Given the description of an element on the screen output the (x, y) to click on. 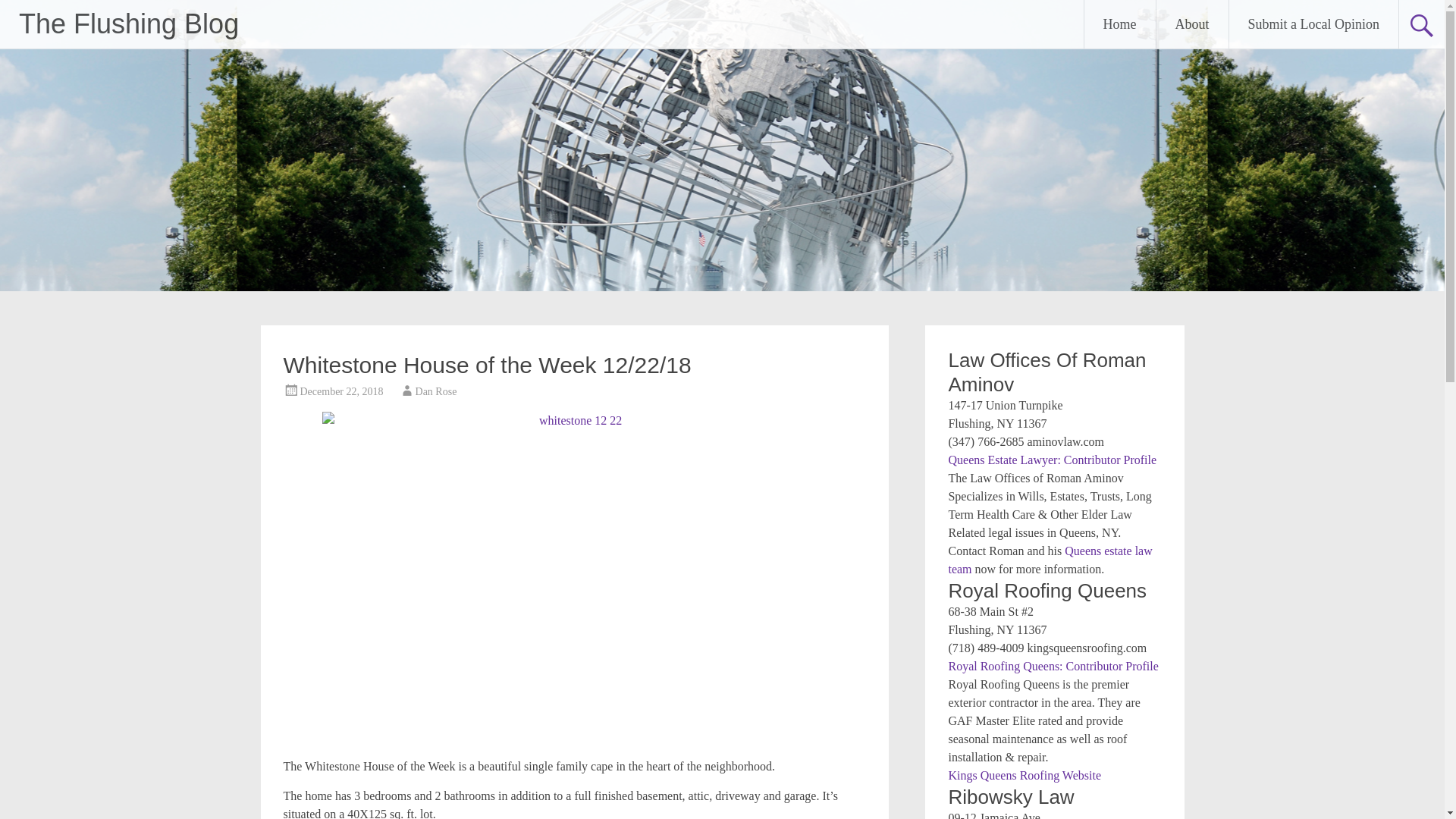
Queens estate law team (1049, 559)
Royal Roofing Queens: Contributor Profile (1052, 666)
Home (1120, 24)
The Flushing Blog (128, 23)
Dan Rose (435, 391)
Queens Estate Lawyer: Contributor Profile (1051, 459)
About (1192, 24)
Submit a Local Opinion (1312, 24)
Kings Queens Roofing Website (1023, 775)
The Flushing Blog (128, 23)
